Given the description of an element on the screen output the (x, y) to click on. 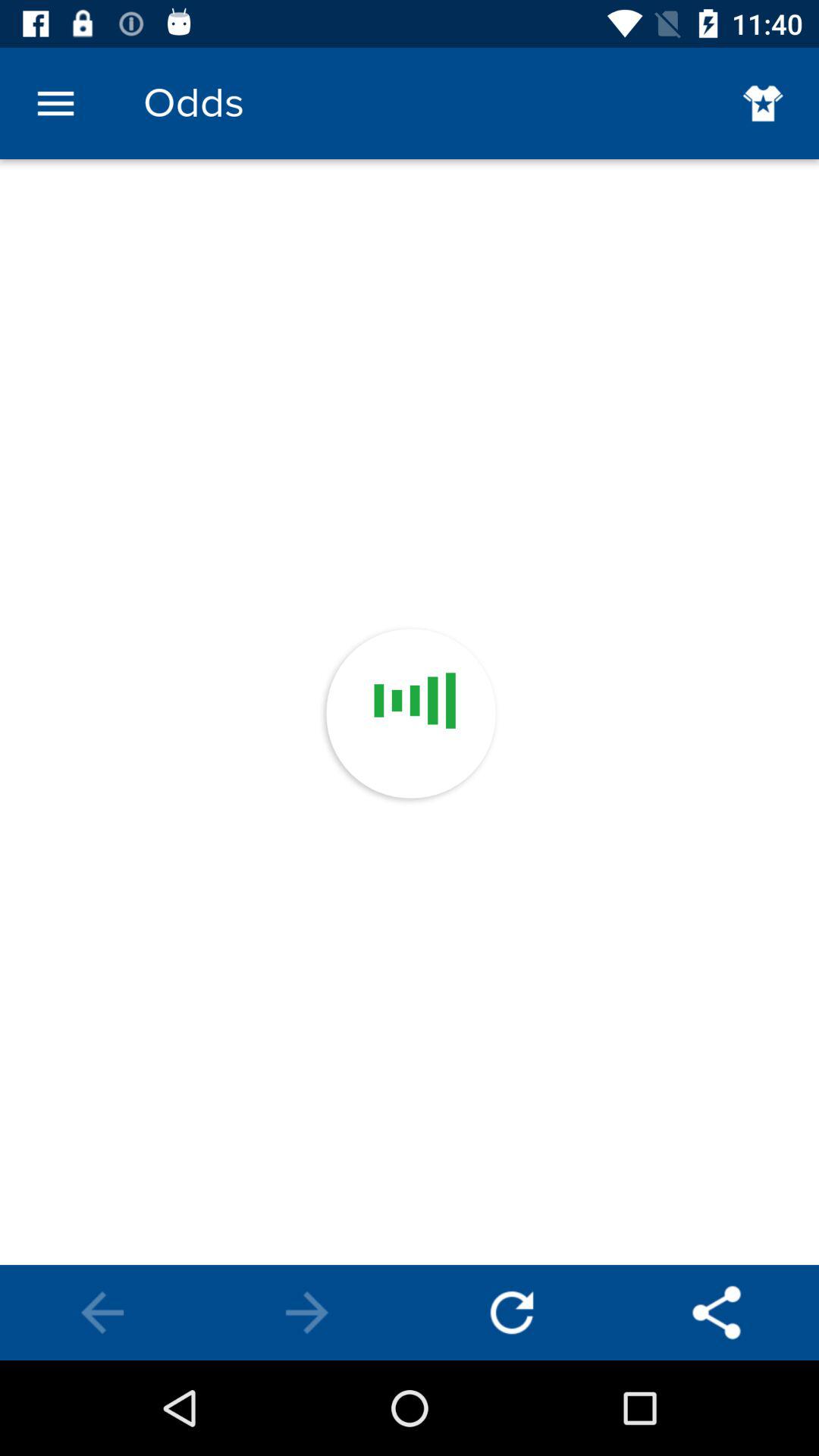
go to next (306, 1312)
